Given the description of an element on the screen output the (x, y) to click on. 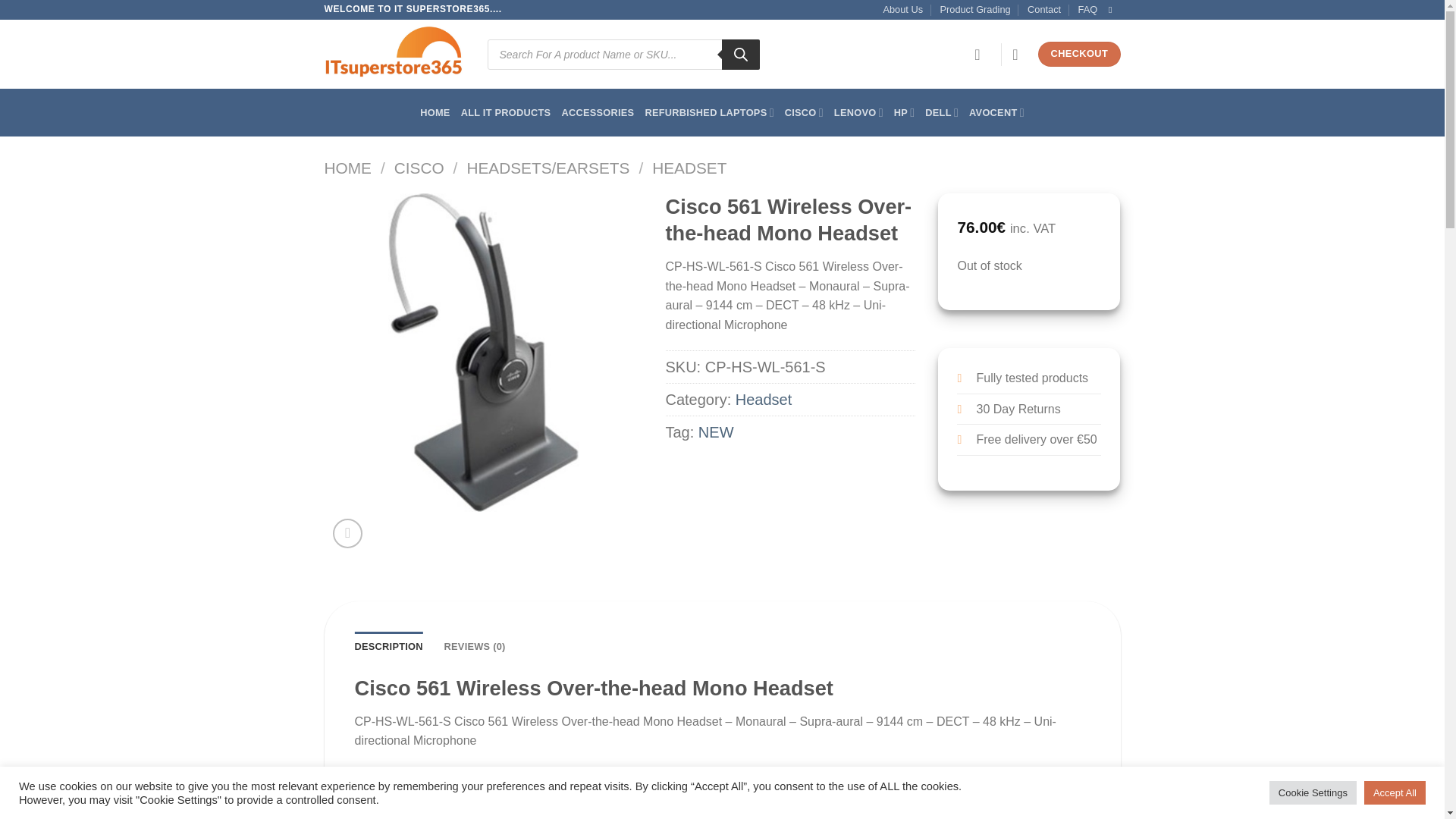
About Us (902, 9)
ACCESSORIES (596, 112)
REFURBISHED LAPTOPS (709, 112)
ALL IT PRODUCTS (506, 112)
Product Grading (974, 9)
Zoom (347, 532)
LENOVO (858, 112)
FAQ (1087, 9)
CHECKOUT (1078, 53)
ITsuperstore365 (394, 53)
Contact (1044, 9)
